Given the description of an element on the screen output the (x, y) to click on. 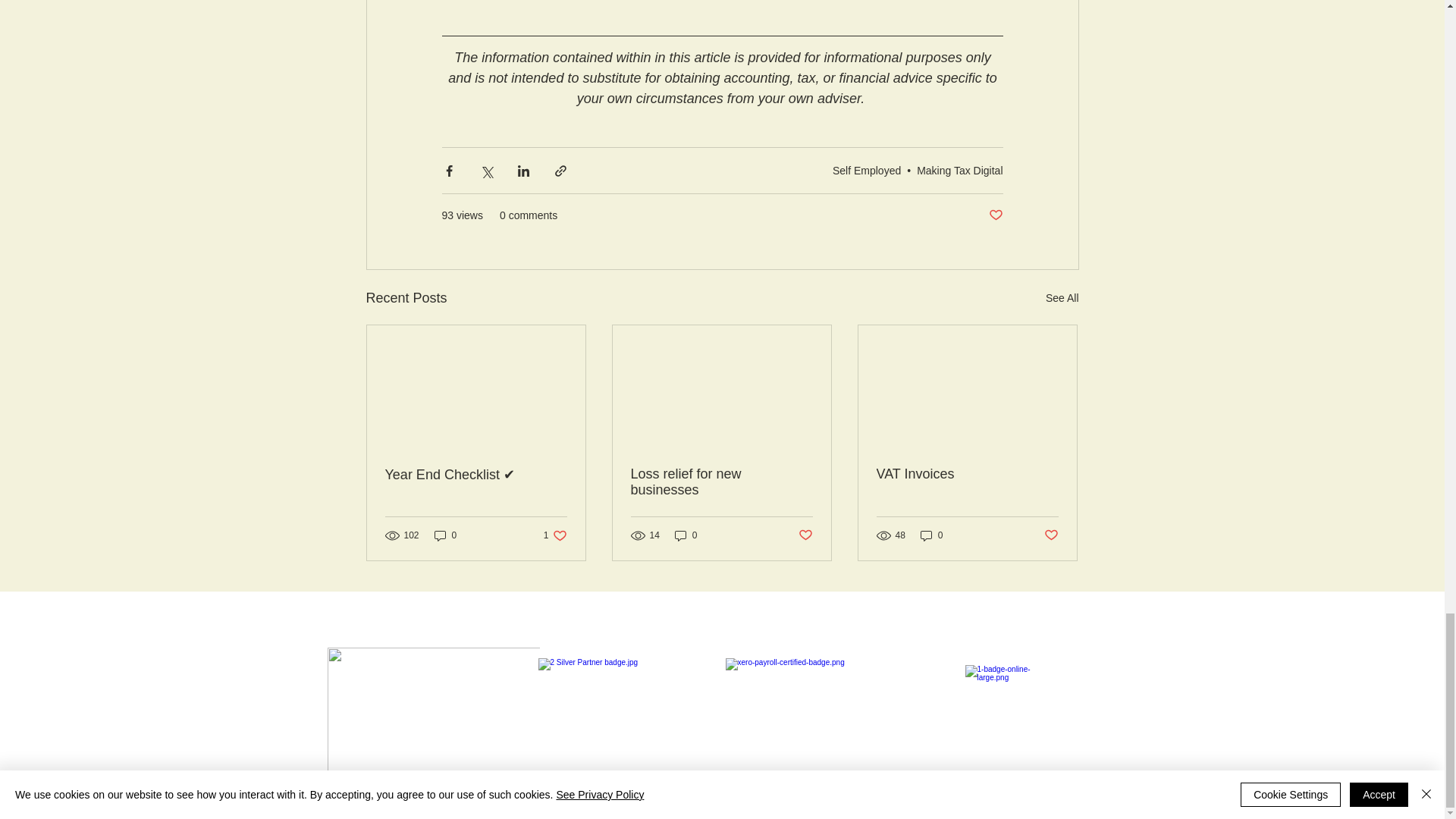
Self Employed (866, 170)
xero bronze partner (627, 709)
xero bronze partner (813, 709)
Making Tax Digital (960, 170)
Post not marked as liked (995, 215)
See All (1061, 298)
